Given the description of an element on the screen output the (x, y) to click on. 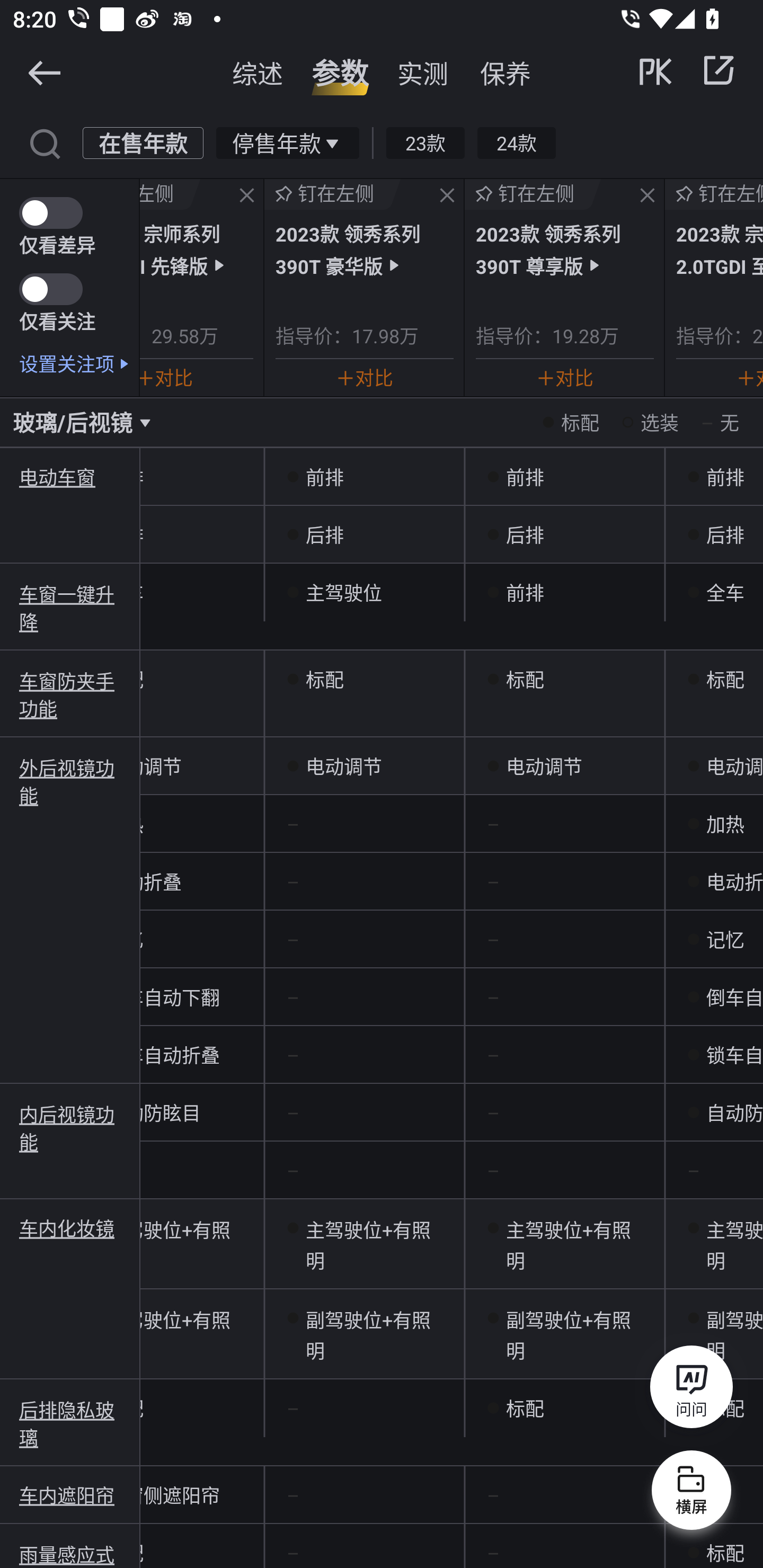
  (688, 70)
综述 (257, 72)
实测 (422, 72)
保养 (505, 72)
 (718, 70)
 (44, 71)
 (44, 142)
在售年款 (142, 142)
停售年款  (287, 142)
23款 (425, 142)
24款 (516, 142)
 钉在左侧 (169, 194)
 (246, 195)
 钉在左侧 (332, 194)
 (446, 195)
 钉在左侧 (532, 194)
 (647, 195)
2024款 宗师系列 2.0TGDI 先锋版  (196, 249)
2023款 领秀系列 390T 豪华版  (364, 249)
2023款 领秀系列 390T 尊享版  (564, 249)
设置关注项  (79, 363)
对比 (166, 377)
对比 (363, 377)
对比 (564, 377)
玻璃/后视镜  标配 选装 无 (381, 422)
前排 (364, 477)
前排 (564, 477)
前排 (714, 477)
电动车窗 (69, 476)
后排 (364, 534)
后排 (564, 534)
后排 (714, 534)
主驾驶位 (364, 591)
前排 (564, 591)
全车 (714, 591)
车窗一键升降 (69, 607)
标配 (364, 679)
标配 (564, 679)
标配 (714, 679)
车窗防夹手功能 (69, 693)
电动调节 (364, 765)
电动调节 (564, 765)
电动调节 (714, 765)
外后视镜功能 (69, 780)
加热 (714, 823)
电动折叠 (714, 881)
记忆 (714, 940)
倒车自动下翻 (714, 997)
锁车自动折叠 (714, 1054)
自动防眩目 (714, 1112)
内后视镜功能 (69, 1126)
主驾驶位+有照明 (364, 1243)
主驾驶位+有照明 (564, 1243)
主驾驶位+有照明 (714, 1243)
车内化妆镜 (69, 1228)
副驾驶位+有照明 (364, 1333)
副驾驶位+有照明 (564, 1333)
副驾驶位+有照明 (714, 1333)
 问问 (691, 1389)
标配 (564, 1408)
后排隐私玻璃 (69, 1422)
车内遮阳帘 (69, 1494)
标配 (714, 1546)
雨量感应式雨刷 (69, 1553)
